Given the description of an element on the screen output the (x, y) to click on. 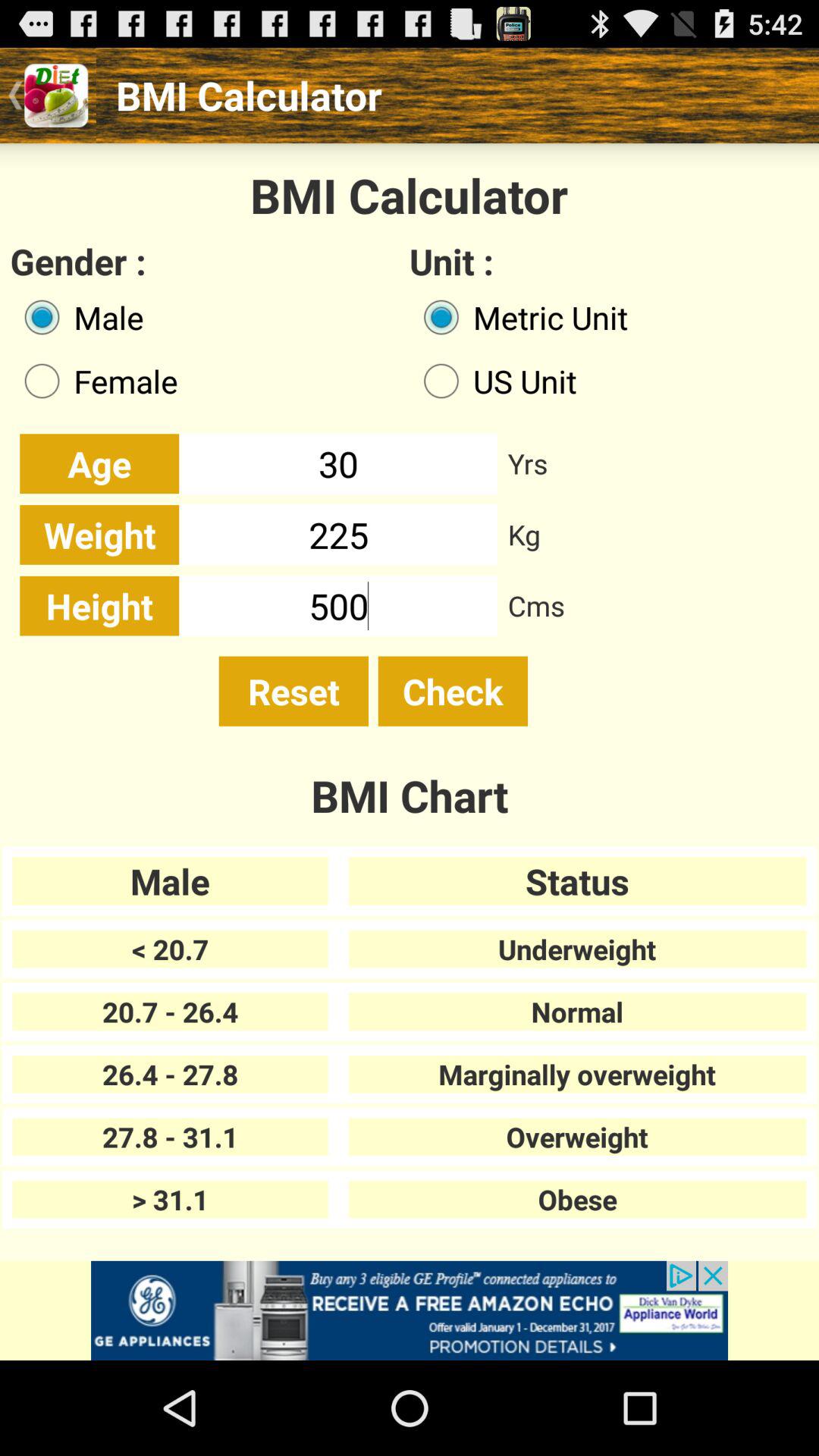
view advertisement (409, 1310)
